Given the description of an element on the screen output the (x, y) to click on. 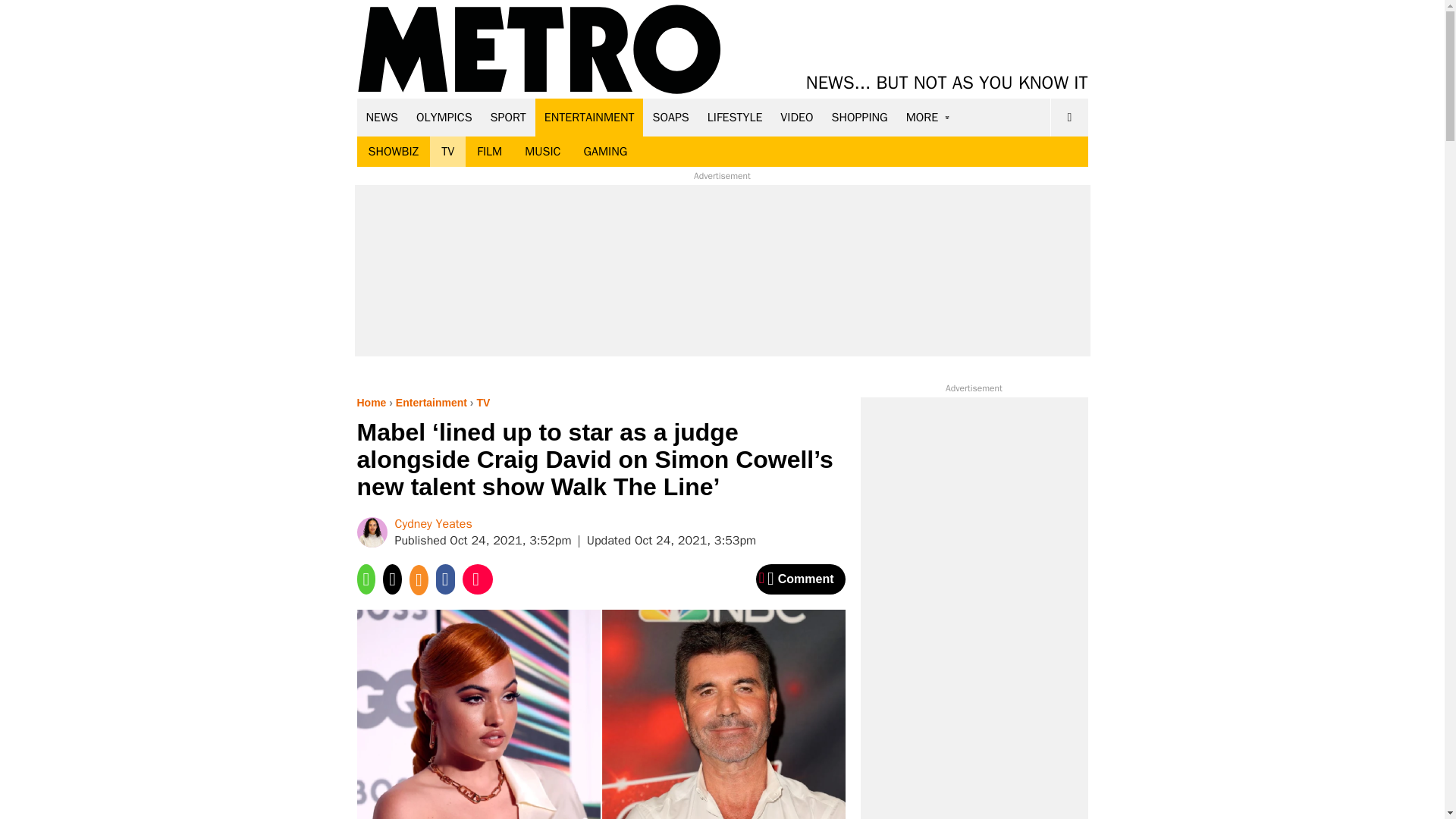
GAMING (605, 151)
SOAPS (670, 117)
SHOWBIZ (392, 151)
OLYMPICS (444, 117)
ENTERTAINMENT (589, 117)
SPORT (508, 117)
TV (447, 151)
NEWS (381, 117)
FILM (489, 151)
LIFESTYLE (734, 117)
